Given the description of an element on the screen output the (x, y) to click on. 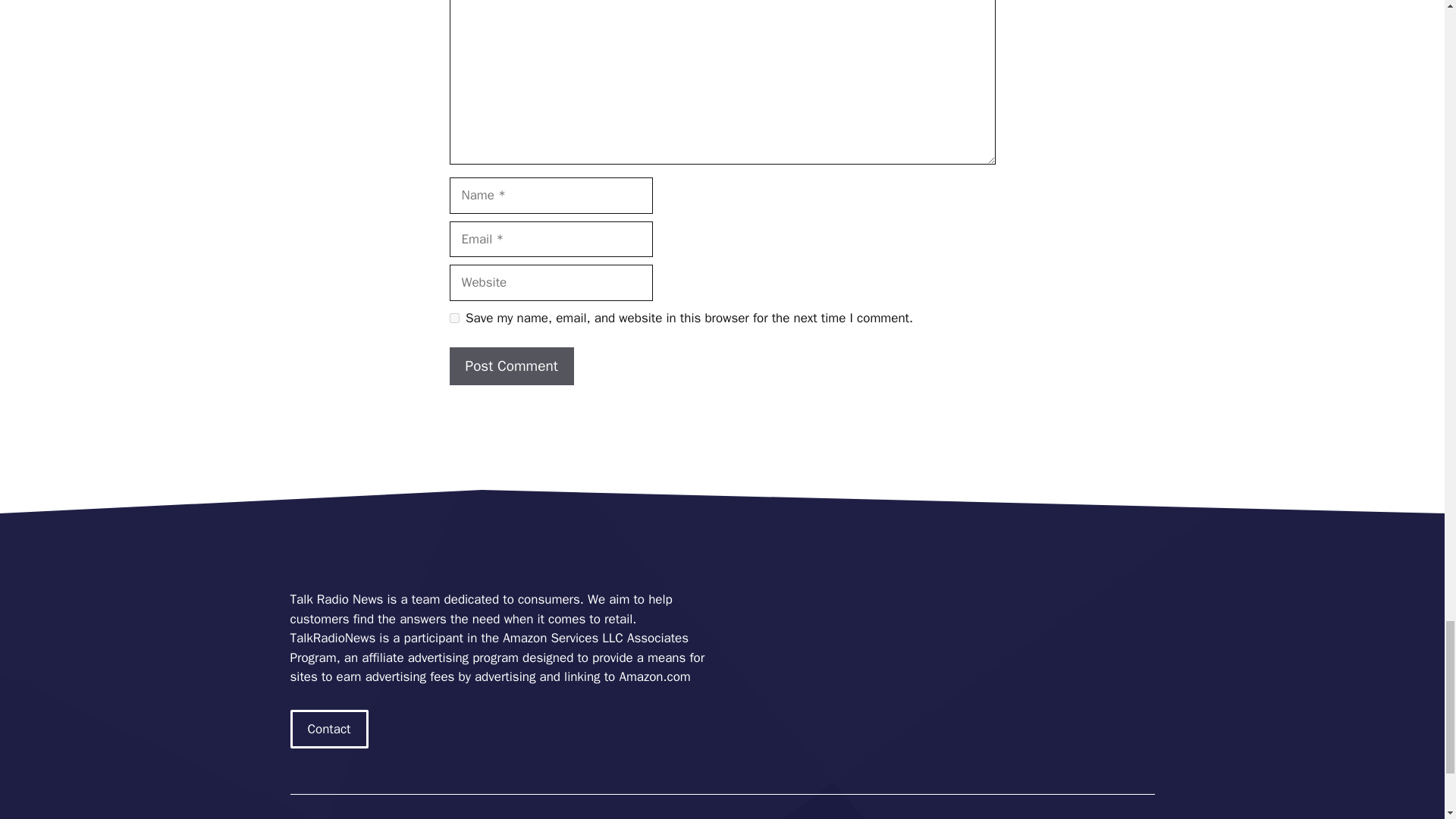
Contact (328, 729)
yes (453, 317)
Post Comment (510, 366)
Post Comment (510, 366)
